Given the description of an element on the screen output the (x, y) to click on. 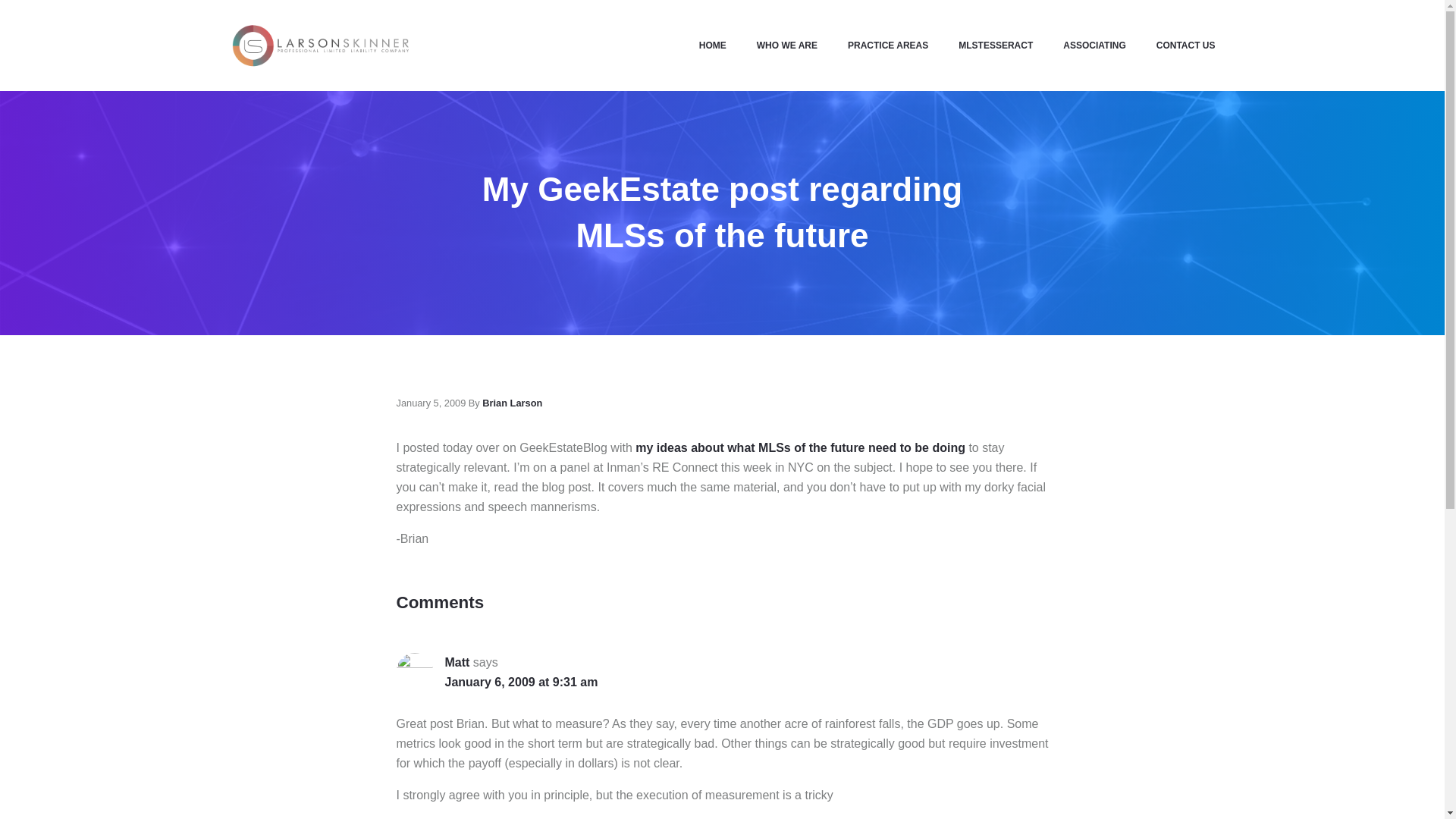
HOME (712, 45)
January 6, 2009 at 9:31 am (520, 680)
MLSTESSERACT (995, 45)
PRACTICE AREAS (887, 45)
my ideas about what MLSs of the future need to be doing (799, 447)
ASSOCIATING (1094, 45)
Matt (456, 662)
CONTACT US (1178, 45)
WHO WE ARE (786, 45)
Brian Larson (511, 402)
